Given the description of an element on the screen output the (x, y) to click on. 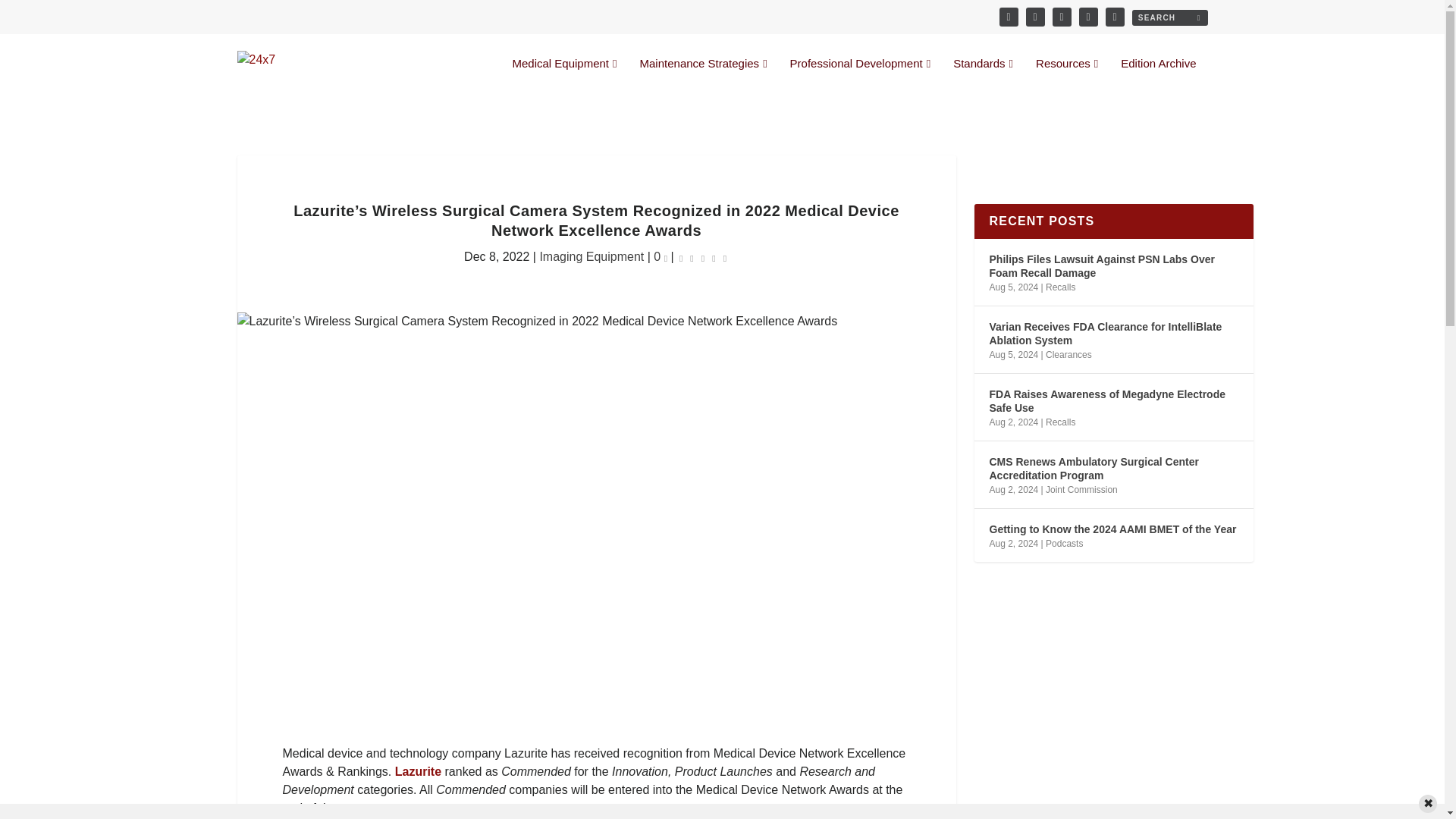
Resources (1066, 76)
Search for: (1169, 17)
Medical Equipment (563, 76)
Maintenance Strategies (703, 76)
Lazurite (417, 771)
0 (659, 256)
Edition Archive (1158, 76)
Standards (983, 76)
Professional Development (860, 76)
Imaging Equipment (590, 256)
Rating: 0.00 (703, 257)
